Given the description of an element on the screen output the (x, y) to click on. 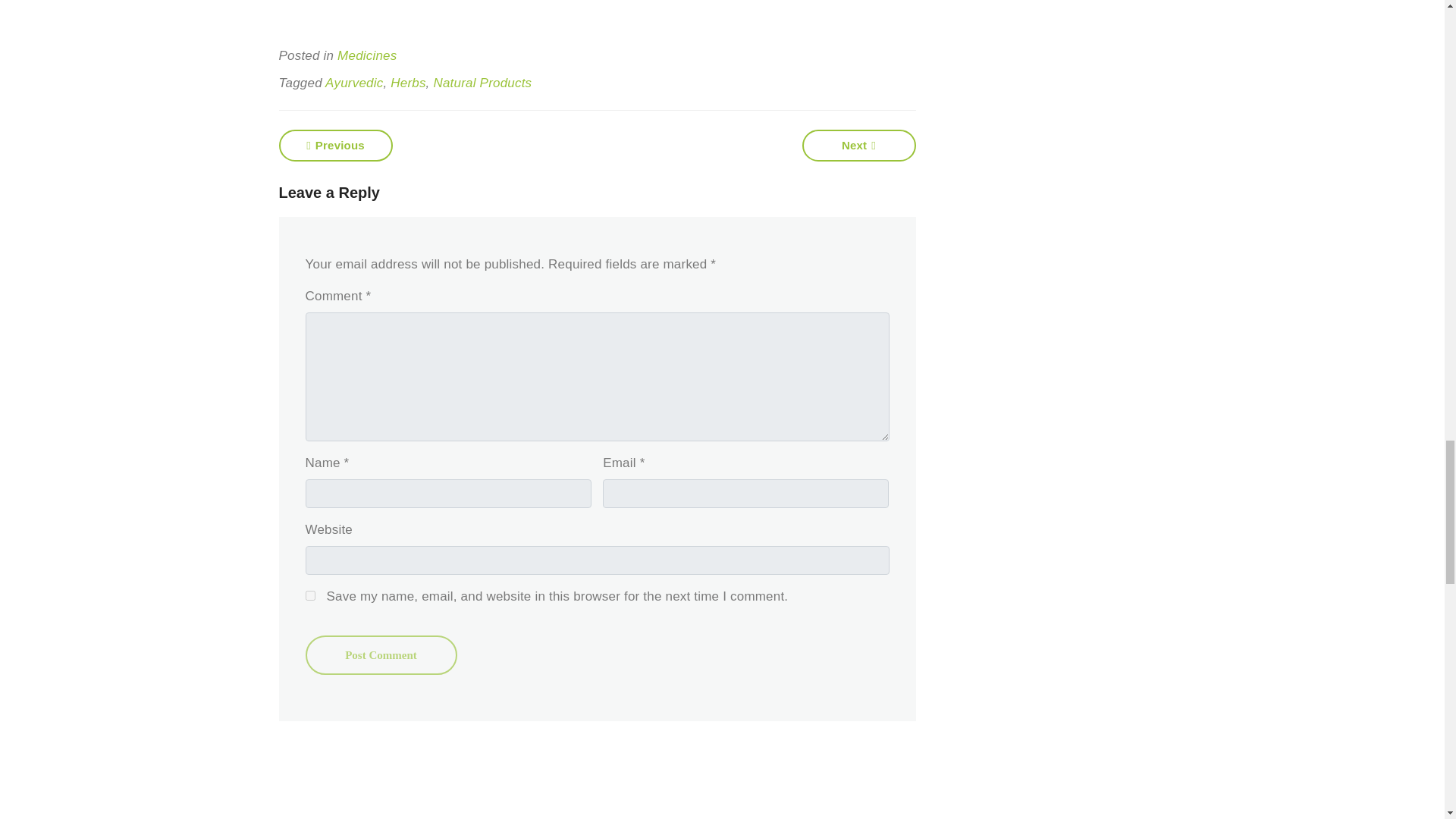
Herbs (407, 83)
Natural Products (481, 83)
Medicines (366, 55)
Next (858, 145)
yes (309, 595)
Previous (336, 145)
Post Comment (380, 654)
Post Comment (380, 654)
Ayurvedic (353, 83)
